Given the description of an element on the screen output the (x, y) to click on. 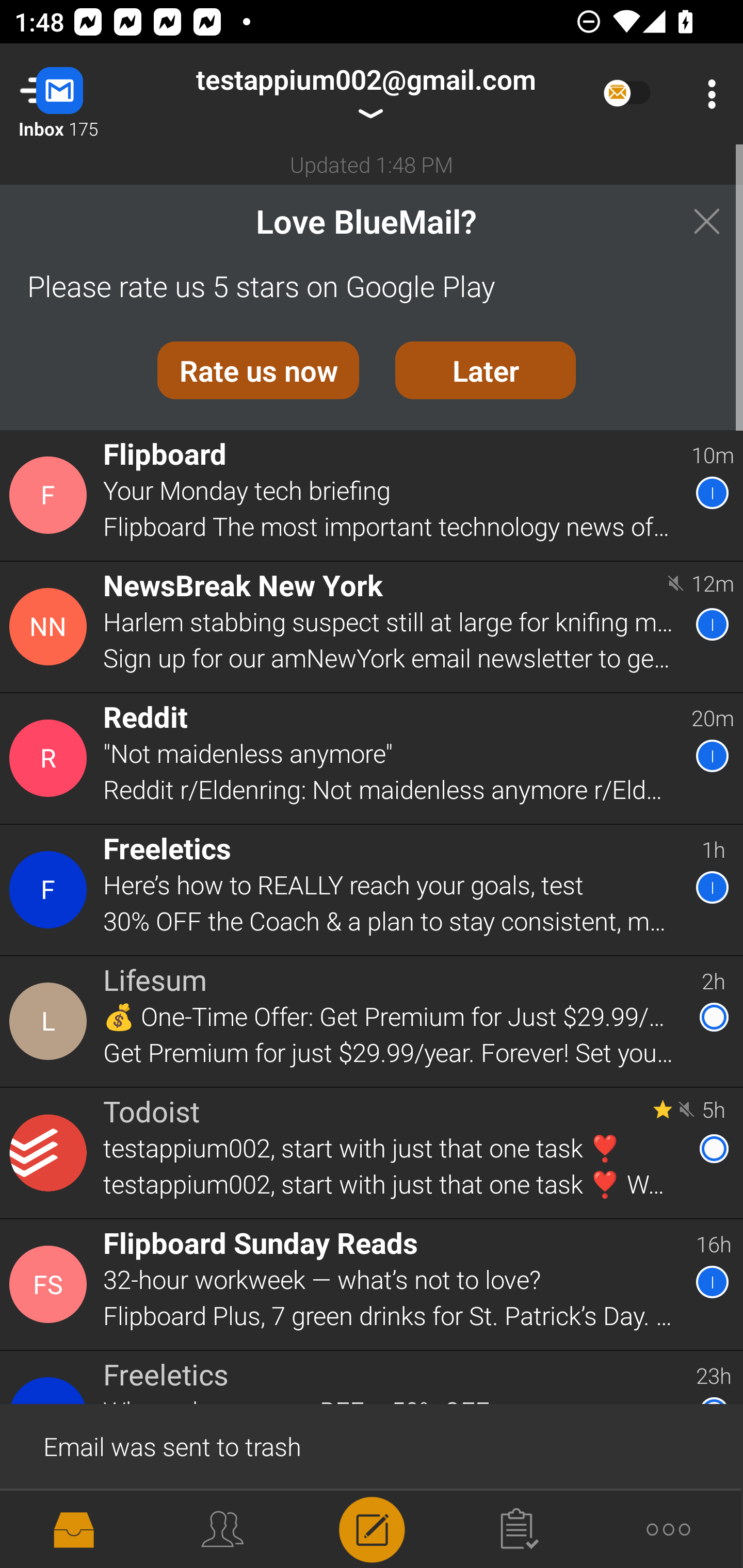
Navigate up (81, 93)
testappium002@gmail.com (365, 93)
More Options (706, 93)
Updated 1:48 PM (371, 164)
Rate us now (257, 370)
Later (485, 370)
Contact Details (50, 495)
Contact Details (50, 626)
Contact Details (50, 758)
Contact Details (50, 889)
Contact Details (50, 1021)
Contact Details (50, 1153)
Contact Details (50, 1284)
Email was sent to trash (371, 1445)
Compose (371, 1528)
